Given the description of an element on the screen output the (x, y) to click on. 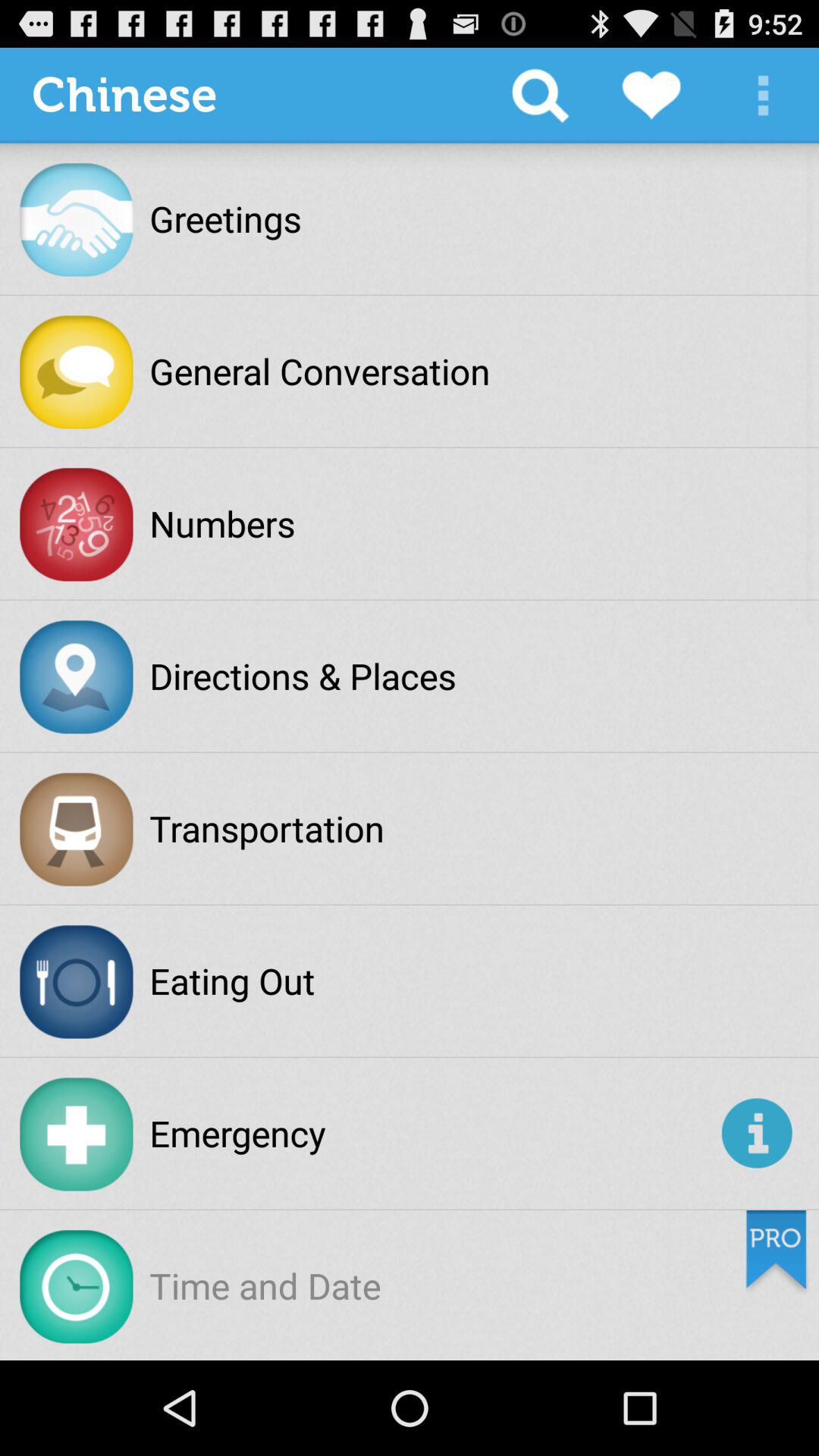
turn off the numbers item (222, 523)
